Given the description of an element on the screen output the (x, y) to click on. 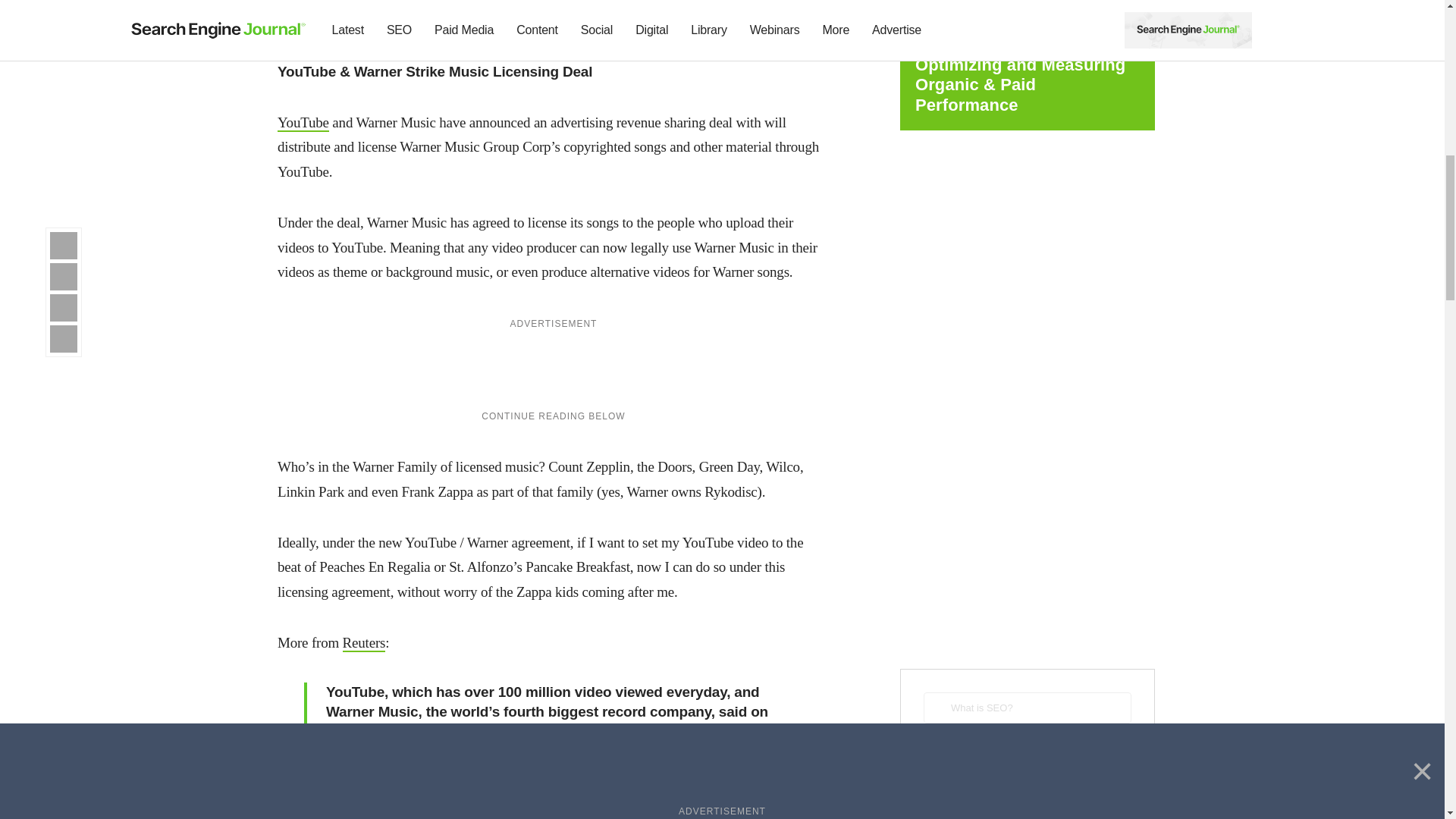
Special Offer (552, 10)
SEARCH (1027, 753)
SEARCH (1027, 753)
